Given the description of an element on the screen output the (x, y) to click on. 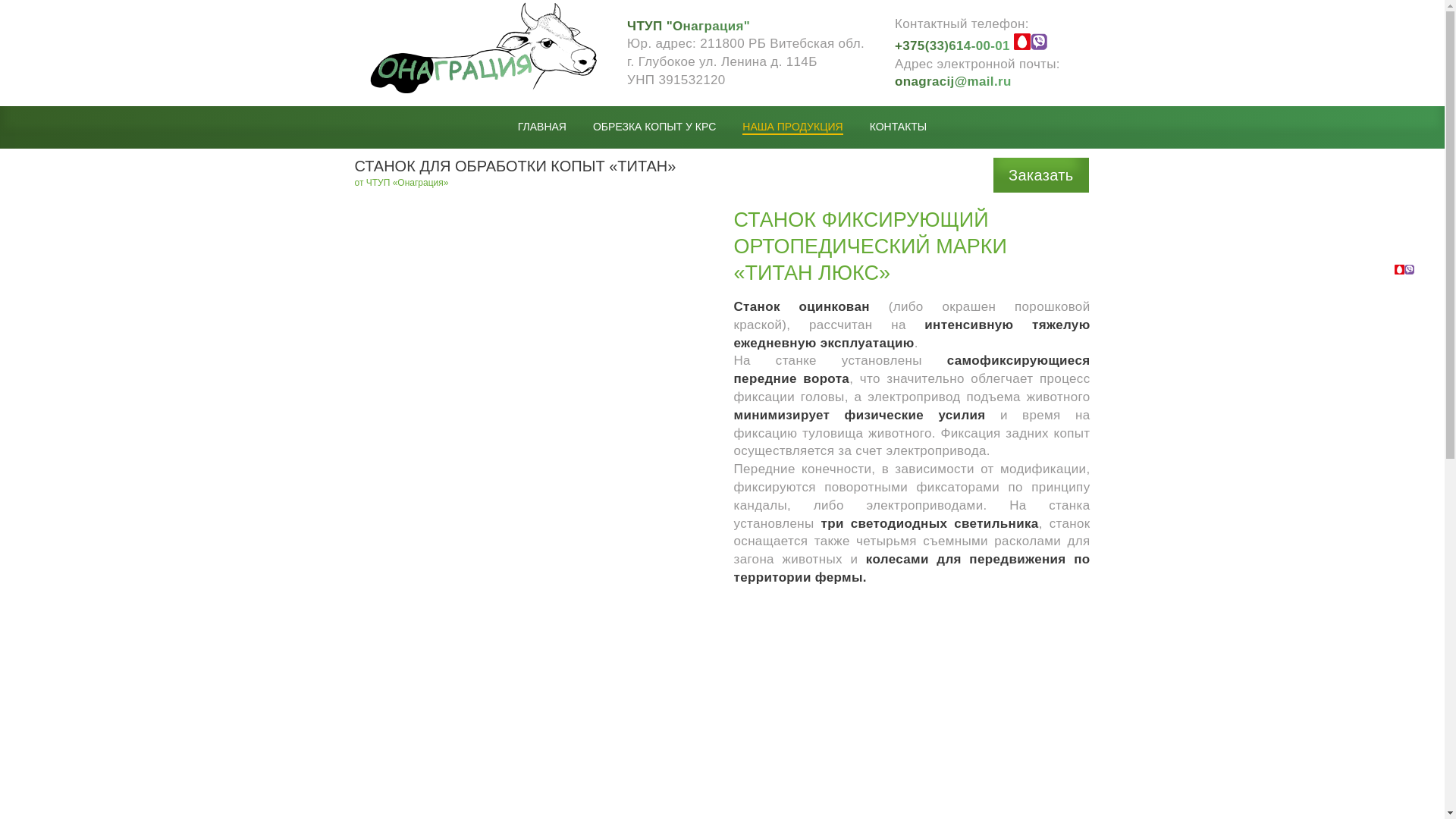
+375(33)614-00-01 Element type: text (1357, 269)
+375(33)614-00-01 Element type: text (970, 45)
Skip to content Element type: text (0, 0)
